Given the description of an element on the screen output the (x, y) to click on. 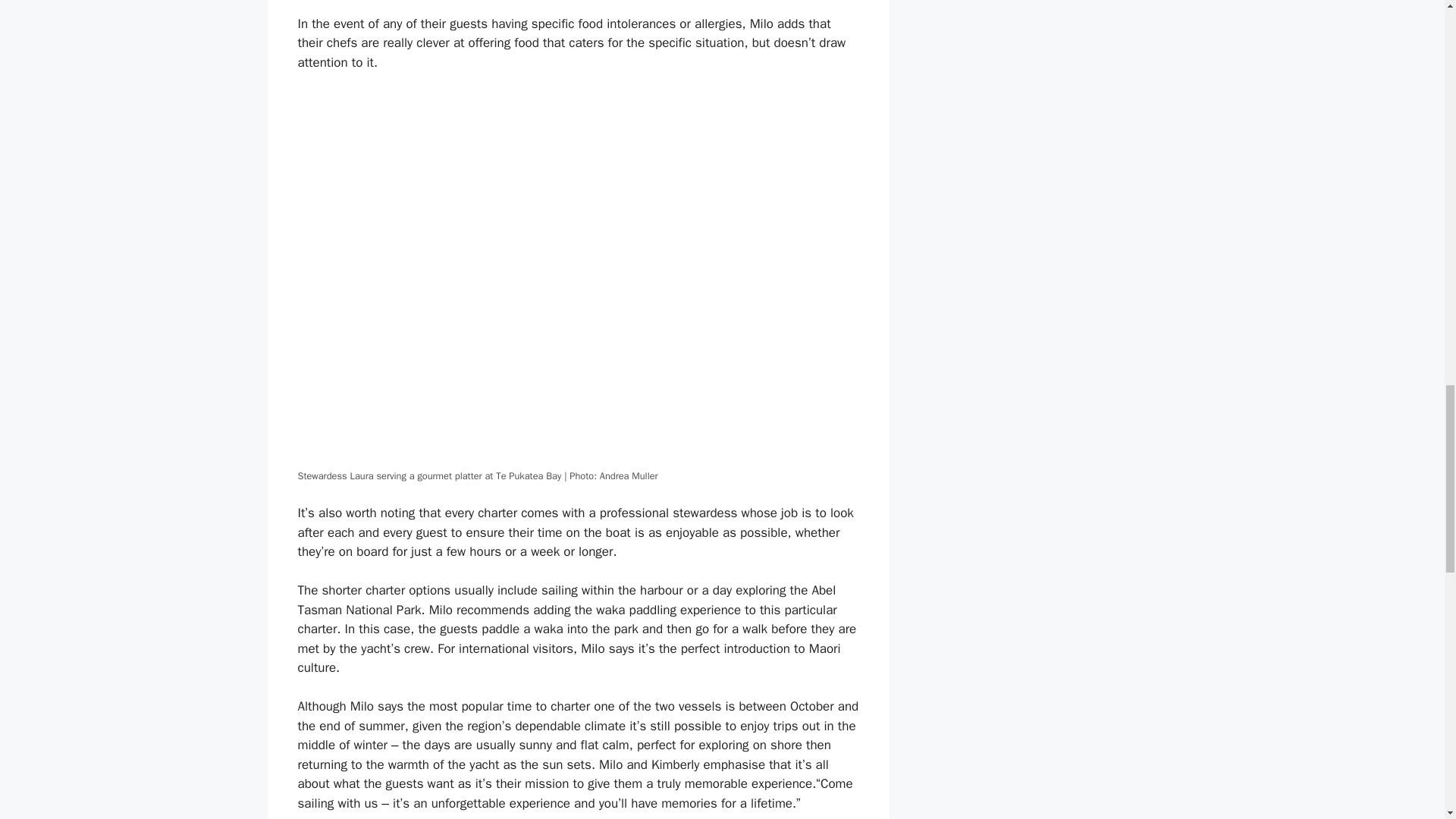
Page 75 (578, 629)
Page 75 (578, 754)
Page 75 (578, 532)
